Given the description of an element on the screen output the (x, y) to click on. 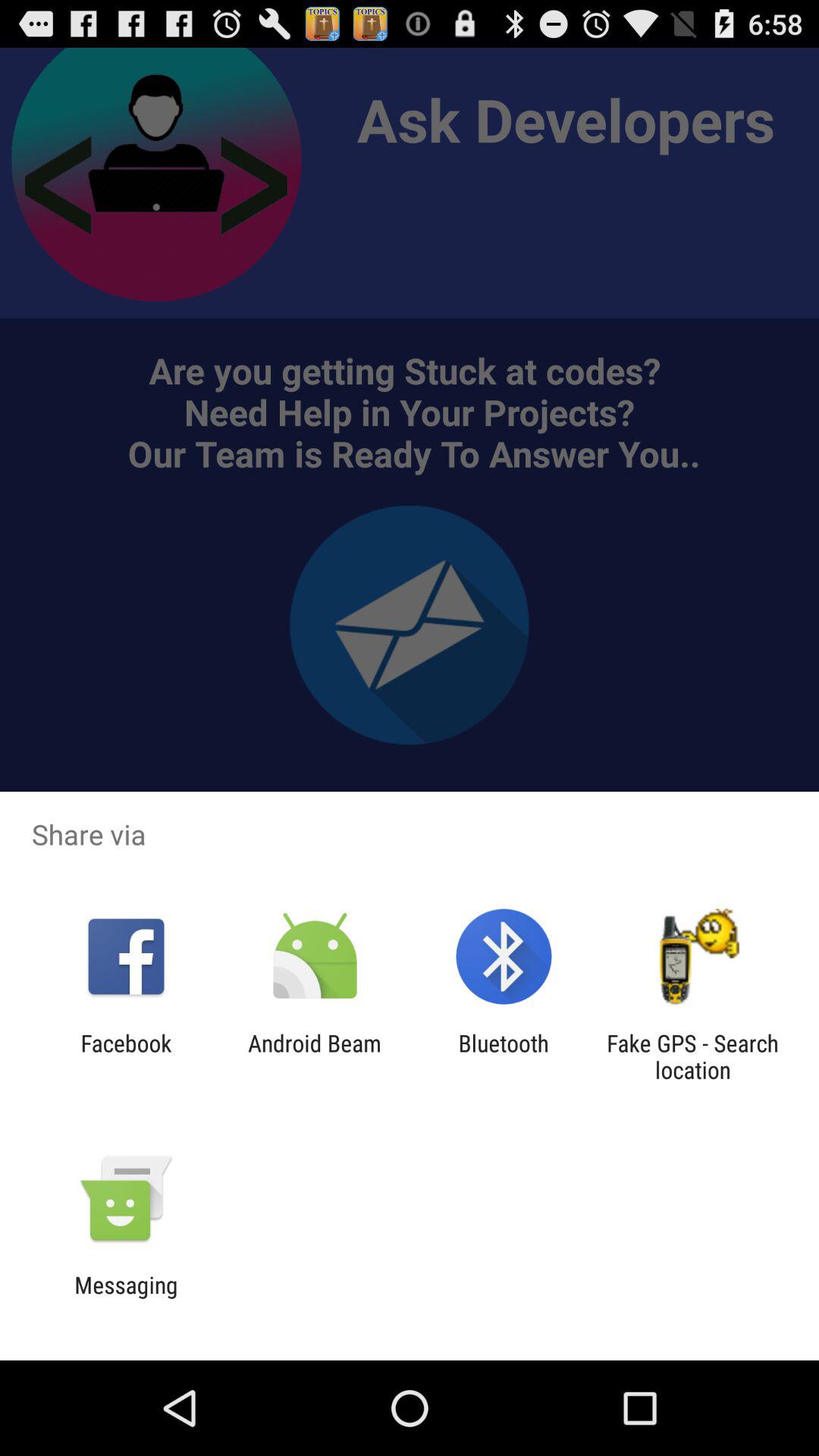
turn on the app to the left of the android beam (125, 1056)
